Given the description of an element on the screen output the (x, y) to click on. 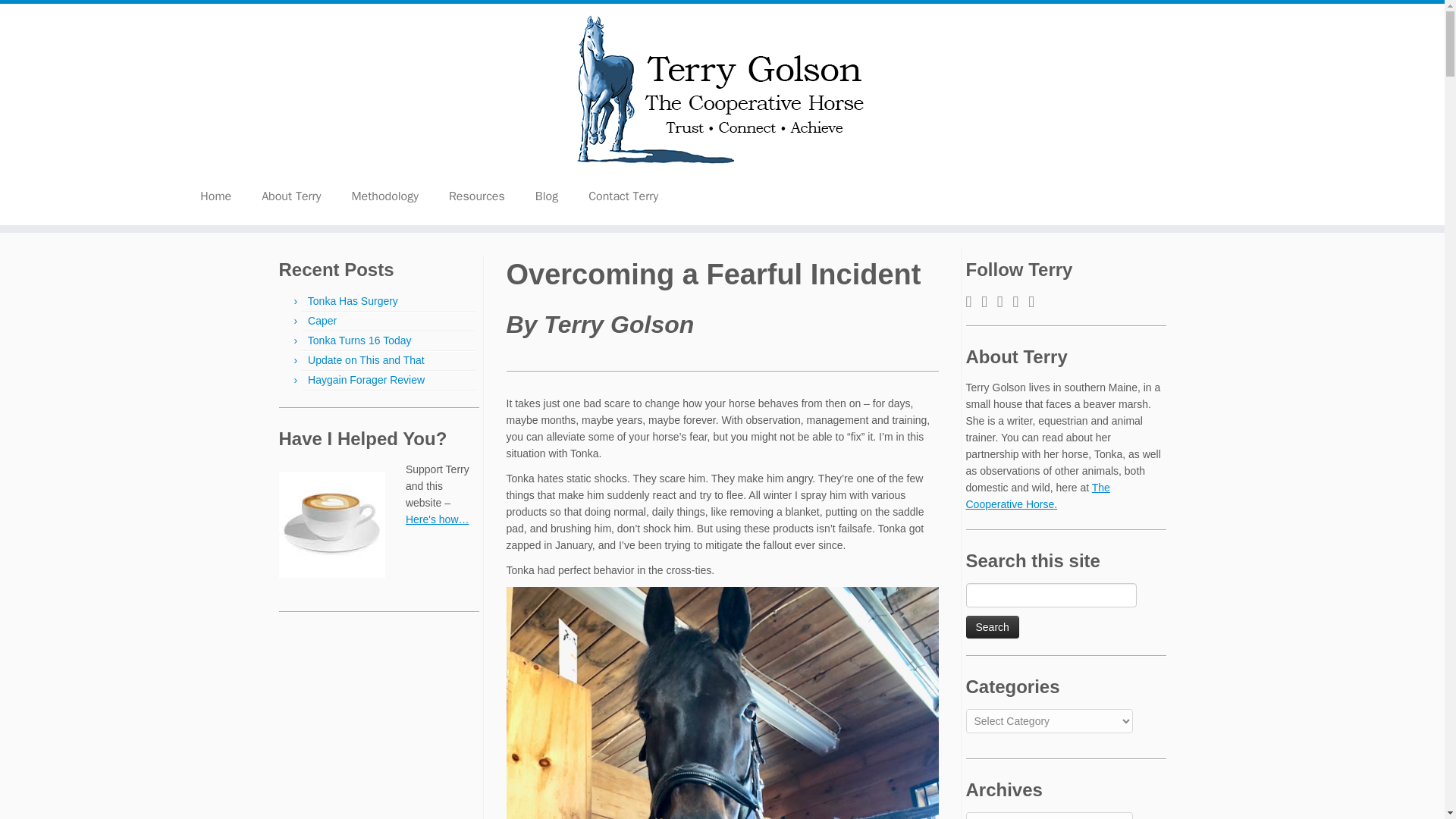
Follow me on Facebook (973, 301)
Tonka Has Surgery (352, 300)
Update on This and That (366, 359)
Blog (546, 196)
Haygain Forager Review (366, 379)
Contact Terry (622, 196)
Home (221, 196)
Follow me on Instagram (989, 301)
Tonka Turns 16 Today (359, 340)
Advertisement (379, 724)
Search (992, 626)
Pin me on Pinterest (1005, 301)
Resources (476, 196)
Caper (321, 320)
About Terry (291, 196)
